Given the description of an element on the screen output the (x, y) to click on. 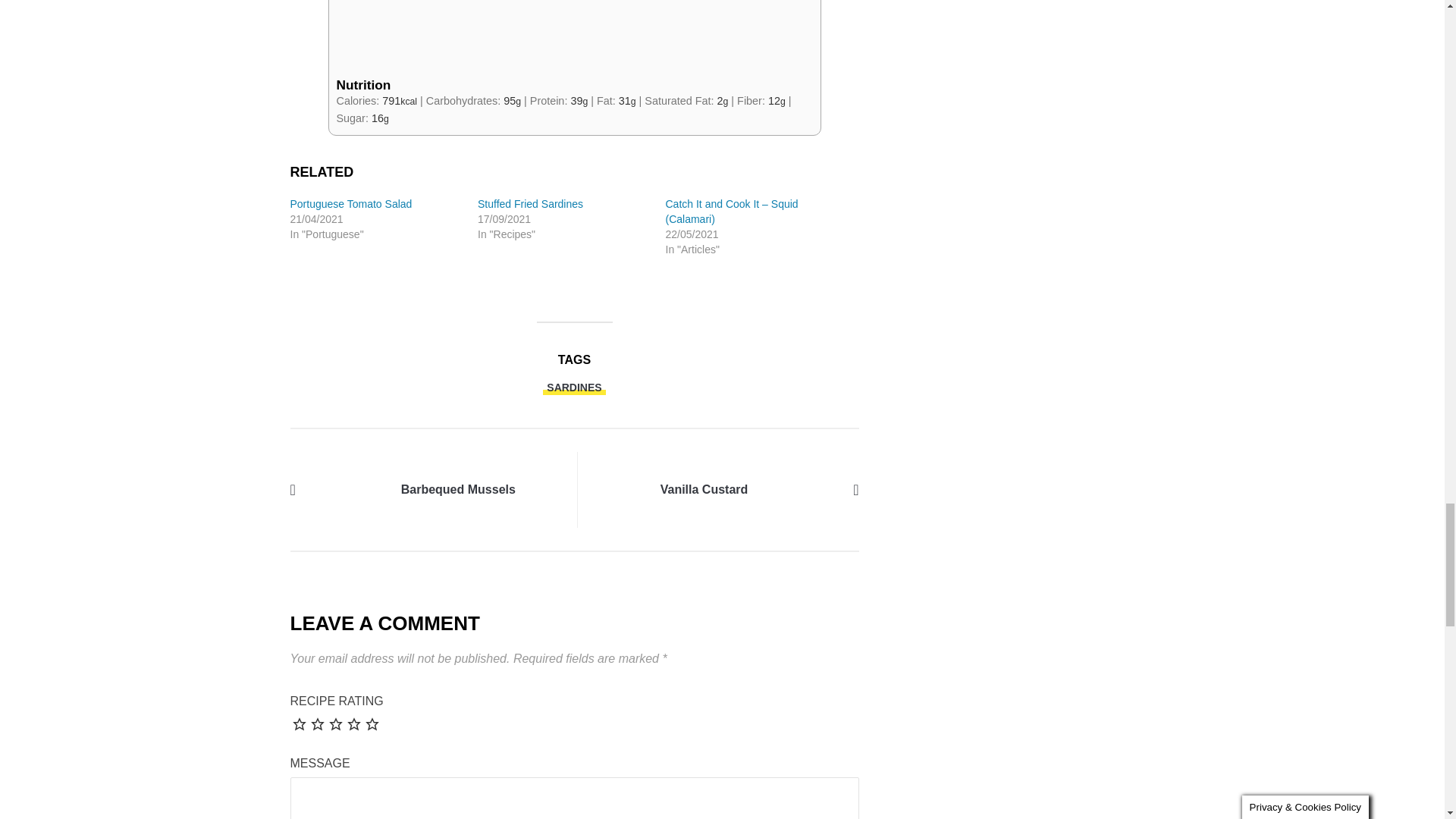
Vanilla Custard (800, 488)
Barbequed Mussels (347, 488)
Barbequed Mussels (458, 489)
Stuffed Fried Sardines (530, 203)
Portuguese Tomato Salad (350, 203)
Vanilla Custard (704, 489)
